Given the description of an element on the screen output the (x, y) to click on. 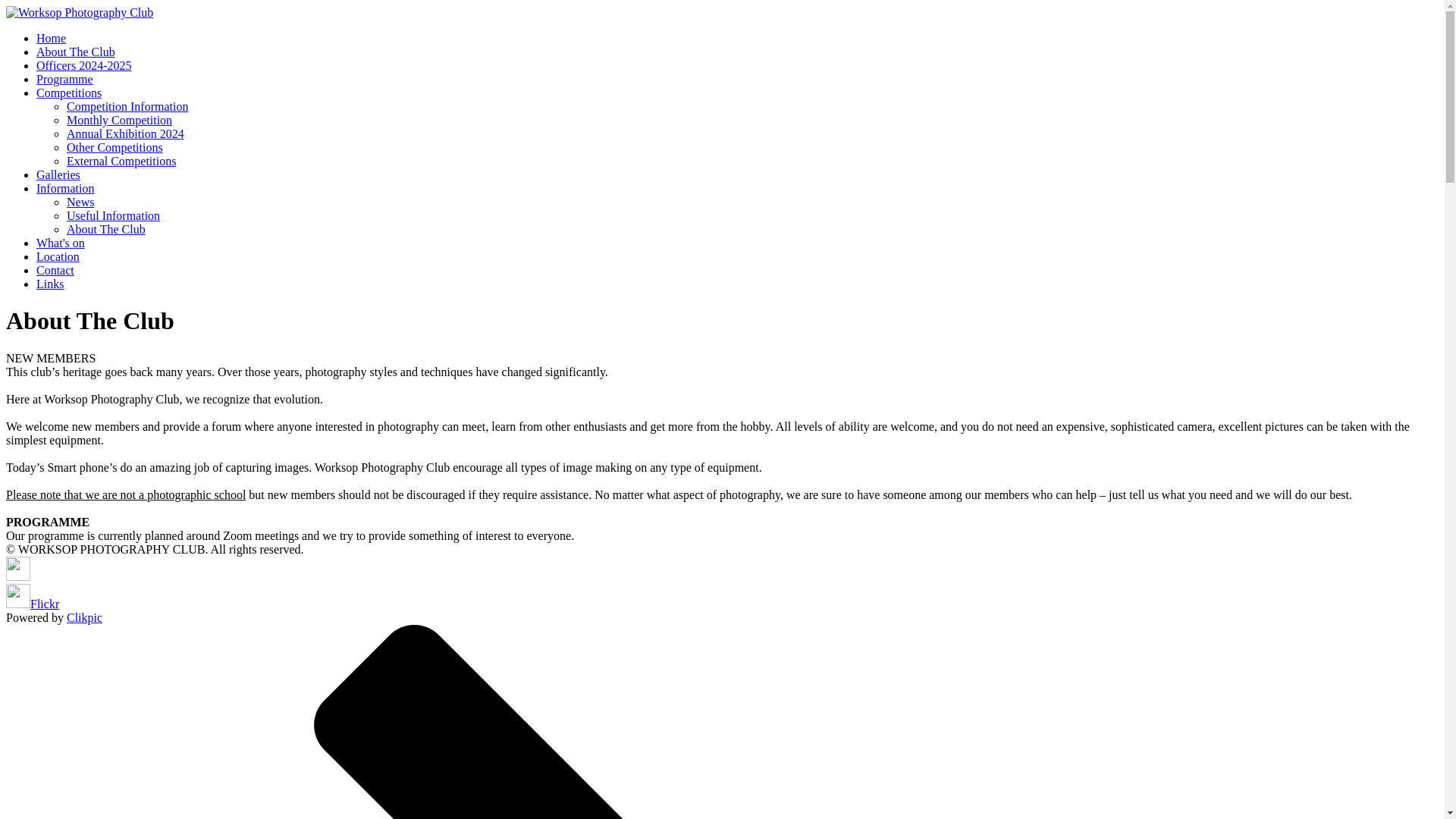
Programme (64, 78)
Galleries (58, 174)
Clikpic (83, 617)
Information (65, 187)
Officers 2024-2025 (83, 65)
Monthly Competition (118, 119)
News (80, 201)
Home (50, 38)
About The Club (105, 228)
Links (50, 283)
Flickr (32, 603)
What's on (60, 242)
Location (58, 256)
Competition Information (126, 106)
Other Competitions (114, 146)
